Given the description of an element on the screen output the (x, y) to click on. 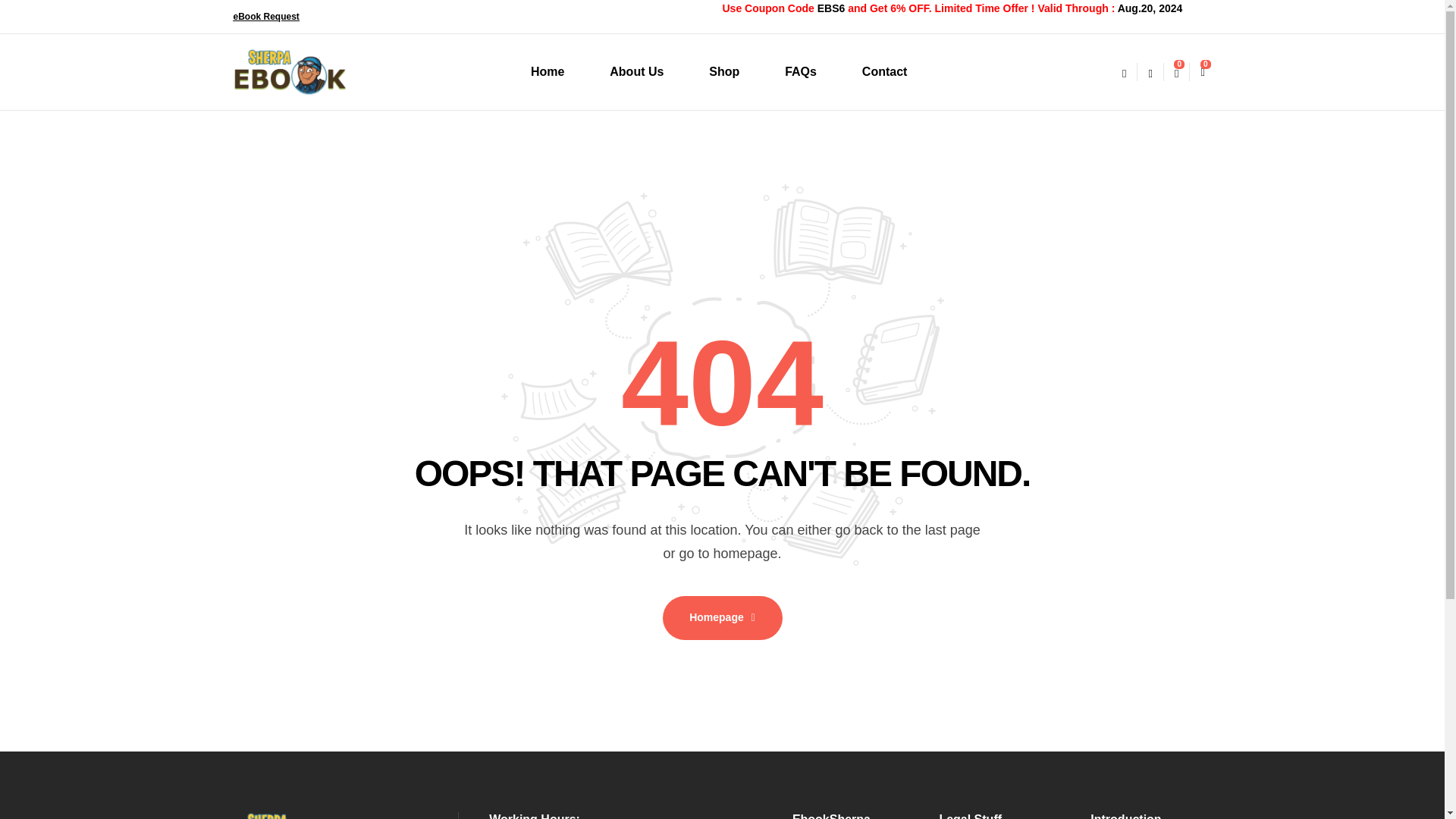
Shop (723, 71)
Contact (884, 71)
0 (1201, 72)
View your shopping cart (1201, 72)
Home (547, 71)
eBook Request (265, 16)
0 (1175, 72)
About Us (636, 71)
FAQs (800, 71)
Homepage (722, 617)
EBS6 (830, 8)
Aug.20, 2024 (1150, 8)
